Given the description of an element on the screen output the (x, y) to click on. 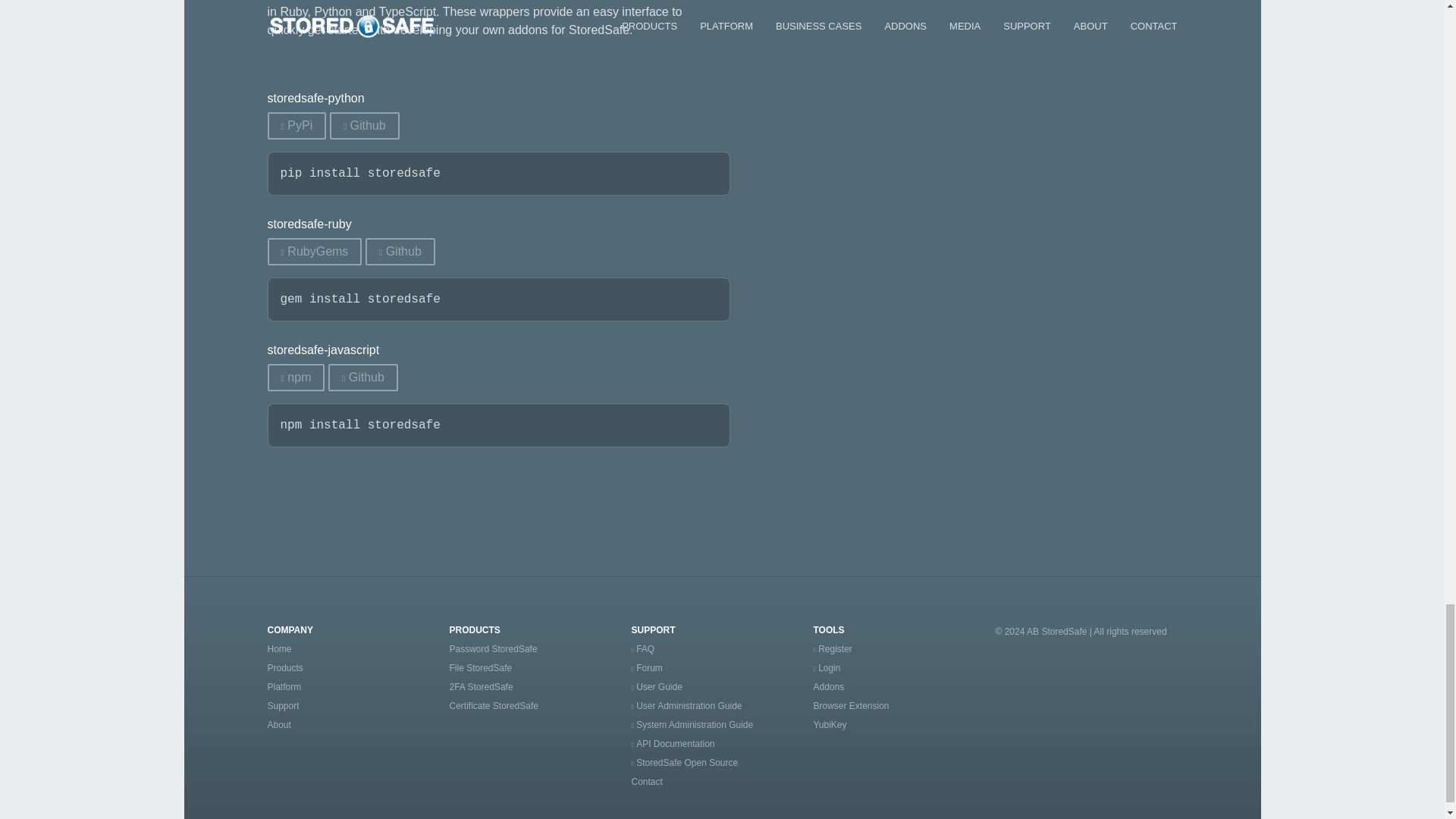
Certificate StoredSafe (492, 706)
Password StoredSafe (492, 648)
npm (295, 377)
RubyGems (313, 251)
File StoredSafe (480, 667)
Github (400, 251)
Support (282, 706)
Github (363, 377)
Platform (283, 686)
Home (278, 648)
PyPi (296, 125)
Products (284, 667)
Github (364, 125)
2FA StoredSafe (480, 686)
About (277, 724)
